Given the description of an element on the screen output the (x, y) to click on. 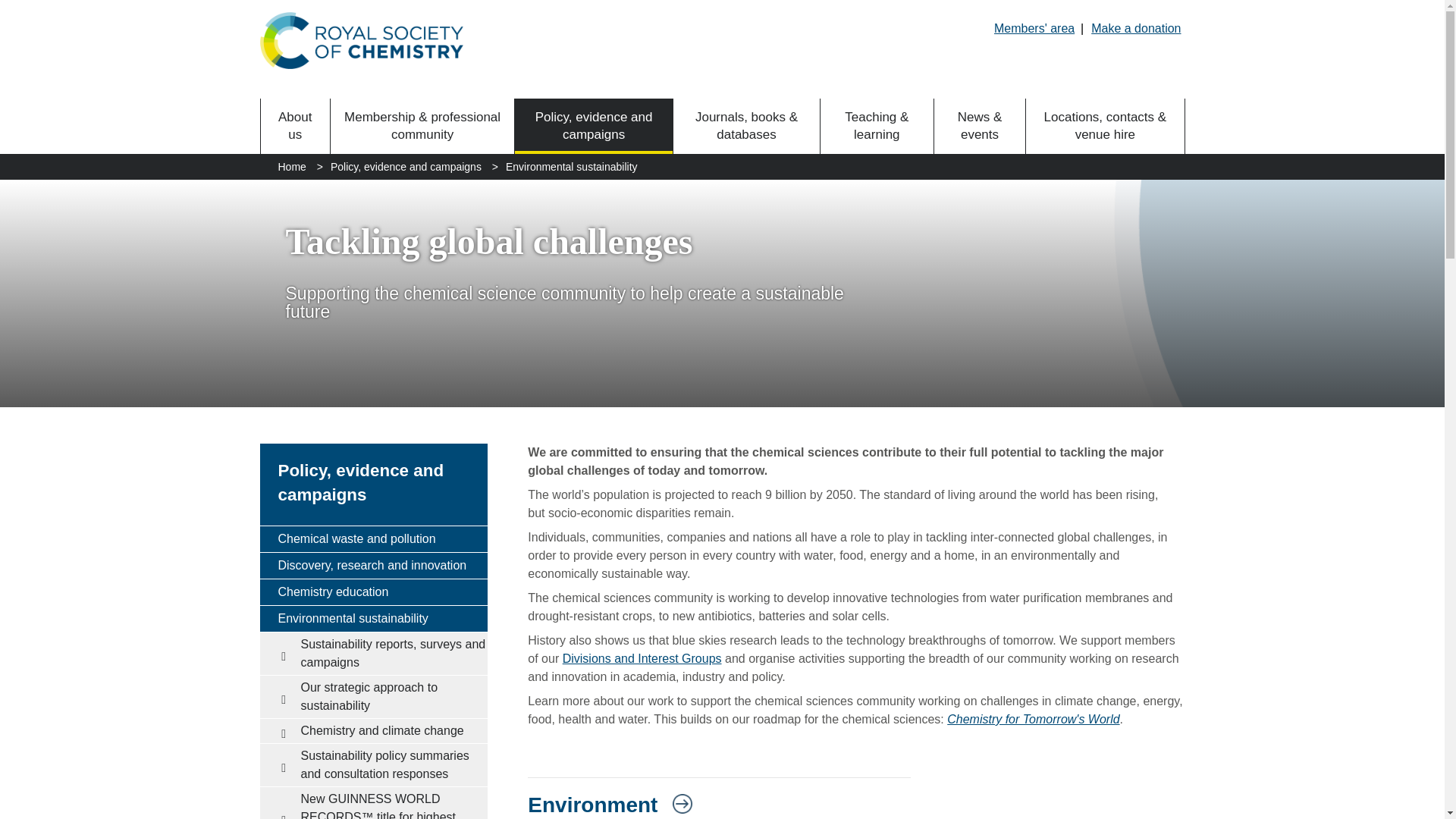
Connect with others (642, 658)
About us (295, 125)
Divisions and Interest Groups (642, 658)
Members' area (1034, 28)
Policy, evidence and campaigns (593, 125)
Home (291, 166)
Environmental sustainability (571, 166)
Royal Society of Chemistry (361, 40)
Policy, evidence and campaigns (405, 166)
Policy, evidence and campaigns (361, 482)
